Given the description of an element on the screen output the (x, y) to click on. 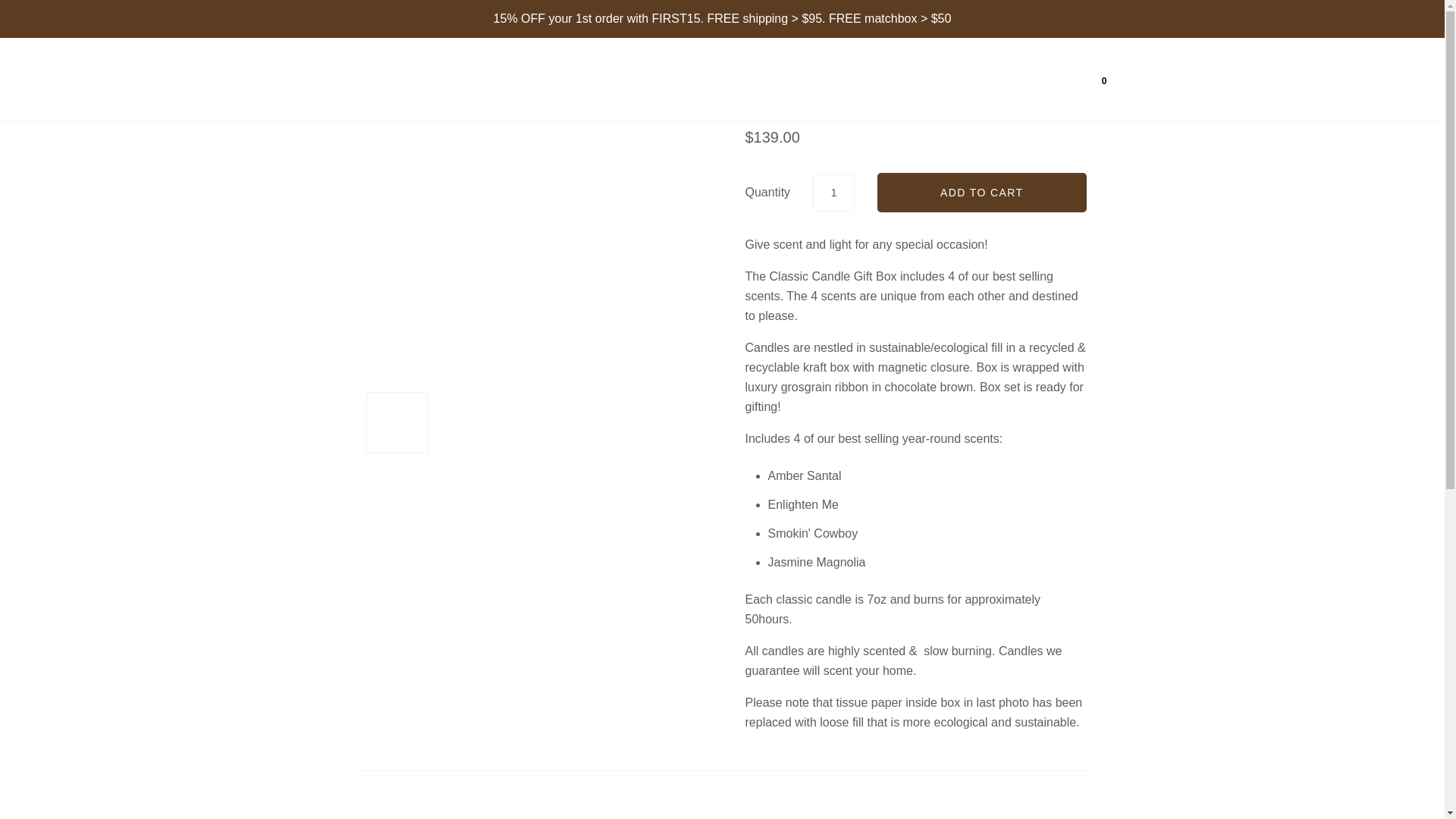
Best Sellers (788, 79)
Candles (700, 79)
Subscriptions (891, 79)
1 (833, 191)
About Us (986, 79)
Add to cart (981, 192)
